Given the description of an element on the screen output the (x, y) to click on. 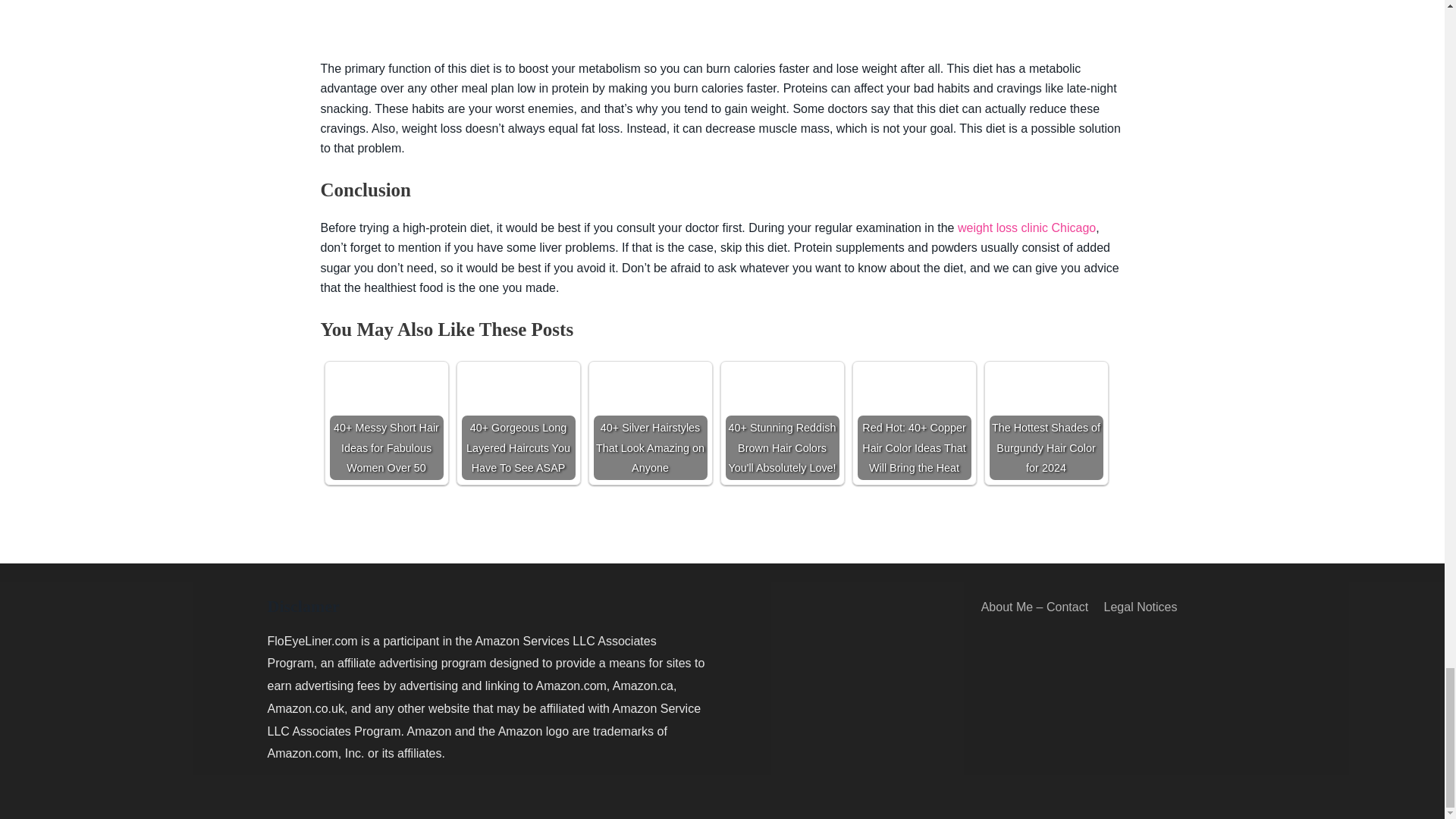
weight loss clinic Chicago (1027, 227)
The Hottest Shades of Burgundy Hair Color for 2024 (1045, 397)
The Hottest Shades of Burgundy Hair Color for 2024 (1045, 422)
Legal Notices (1134, 606)
